Given the description of an element on the screen output the (x, y) to click on. 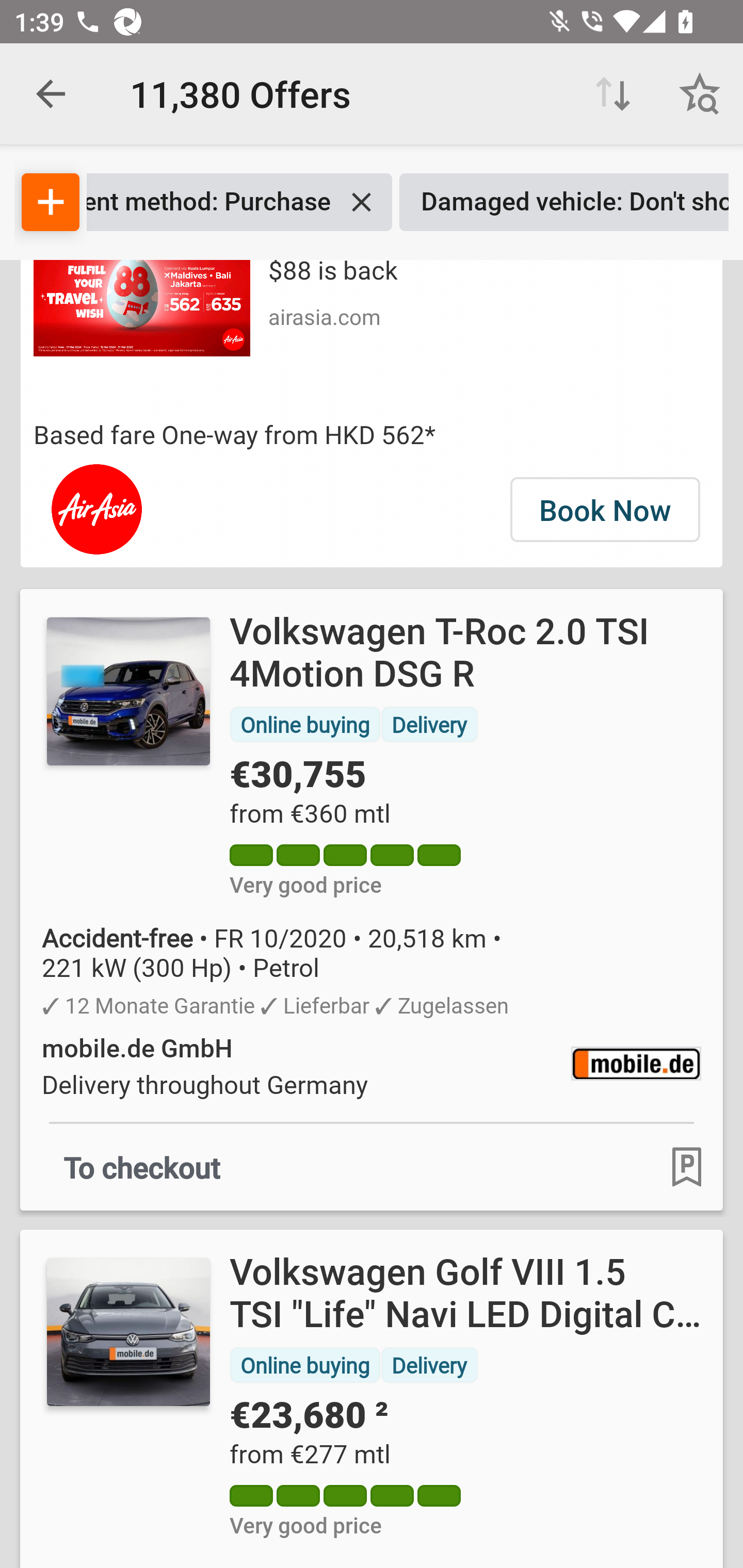
Navigate up (50, 93)
Sort options (612, 93)
Save search (699, 93)
Damaged vehicle: Don't show (563, 202)
Filter (50, 202)
$88 is back (332, 273)
airasia.com (324, 315)
Based fare One-way from HKD 562* (371, 433)
Book Now (604, 509)
To checkout (142, 1166)
